Given the description of an element on the screen output the (x, y) to click on. 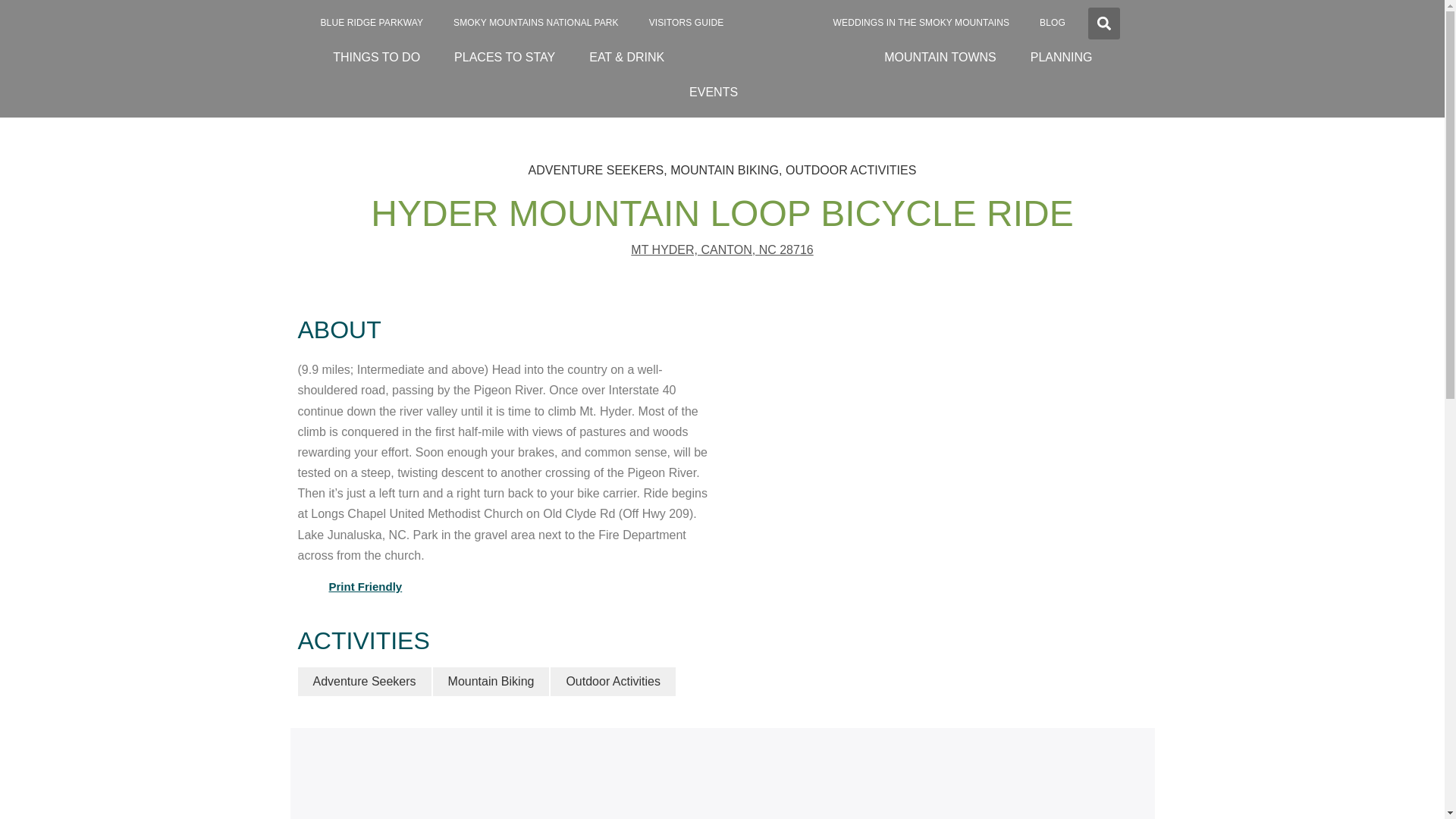
WEDDINGS IN THE SMOKY MOUNTAINS (921, 23)
PLACES TO STAY (504, 57)
MOUNTAIN TOWNS (940, 57)
BLOG (1052, 23)
VISITORS GUIDE (686, 23)
THINGS TO DO (376, 57)
BLUE RIDGE PARKWAY (371, 23)
PLANNING (1061, 57)
SMOKY MOUNTAINS NATIONAL PARK (535, 23)
